Given the description of an element on the screen output the (x, y) to click on. 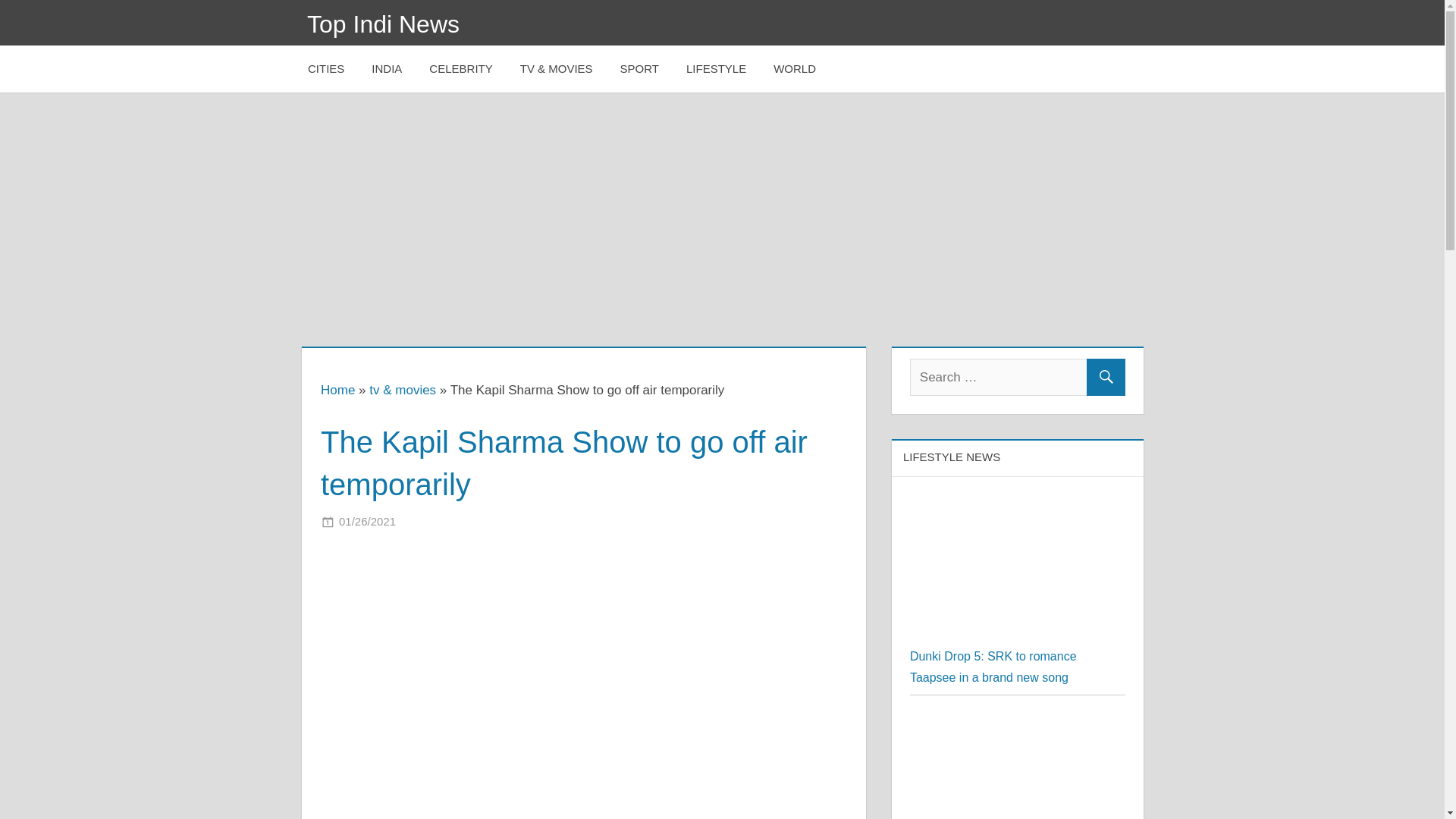
CITIES (326, 68)
Home (337, 390)
05:26 (367, 521)
SPORT (639, 68)
Search for: (1017, 376)
Dunki Drop 5: SRK to romance Taapsee in a brand new song (1017, 504)
Top Indi News (383, 23)
WORLD (794, 68)
INDIA (386, 68)
Dunki Drop 5: SRK to romance Taapsee in a brand new song (1017, 570)
Dunki Drop 5: SRK to romance Taapsee in a brand new song (993, 666)
CELEBRITY (459, 68)
LIFESTYLE (716, 68)
